Given the description of an element on the screen output the (x, y) to click on. 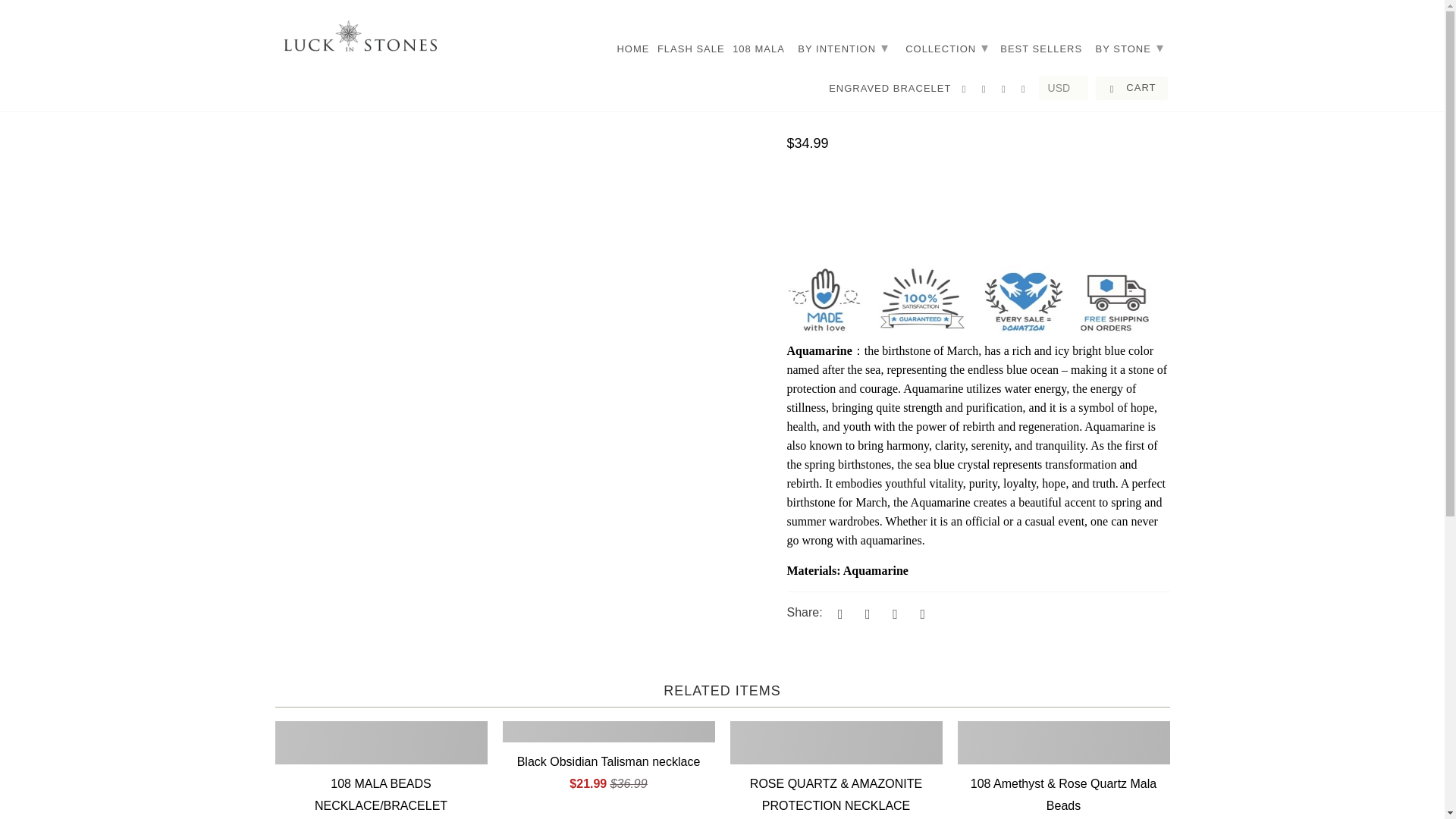
luck In Stones (360, 37)
Products (349, 24)
Email this to a friend (920, 613)
luck In Stones (289, 24)
Share this on Pinterest (892, 613)
Share this on Twitter (837, 613)
Share this on Facebook (865, 613)
